Given the description of an element on the screen output the (x, y) to click on. 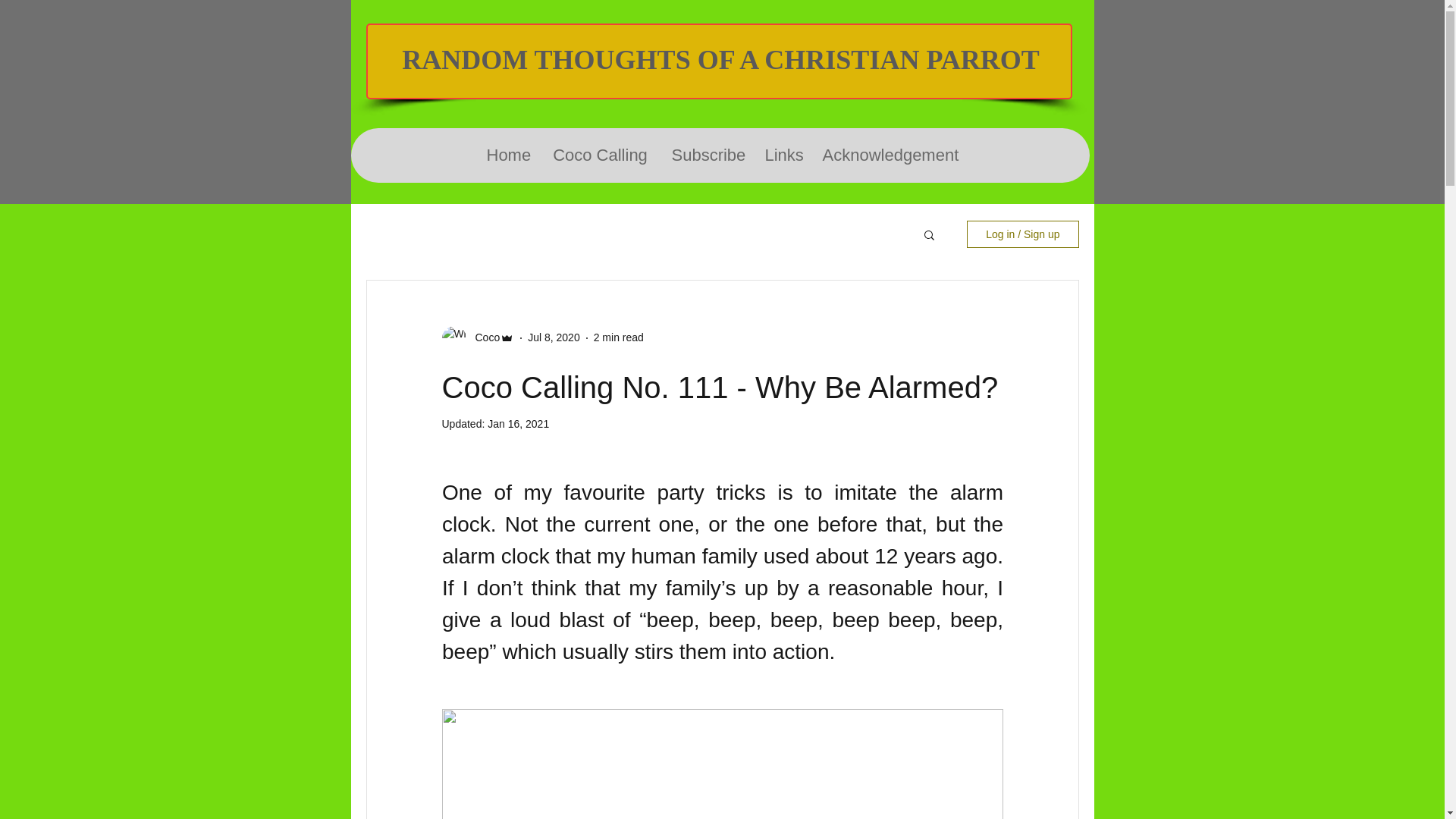
2 min read (618, 337)
Acknowledgement (887, 154)
Links (780, 154)
Coco Calling (599, 154)
Coco (482, 337)
Subscribe (705, 154)
RANDOM THOUGHTS OF A CHRISTIAN PARROT (720, 60)
Jul 8, 2020 (553, 337)
Jan 16, 2021 (517, 423)
Home (507, 154)
